Given the description of an element on the screen output the (x, y) to click on. 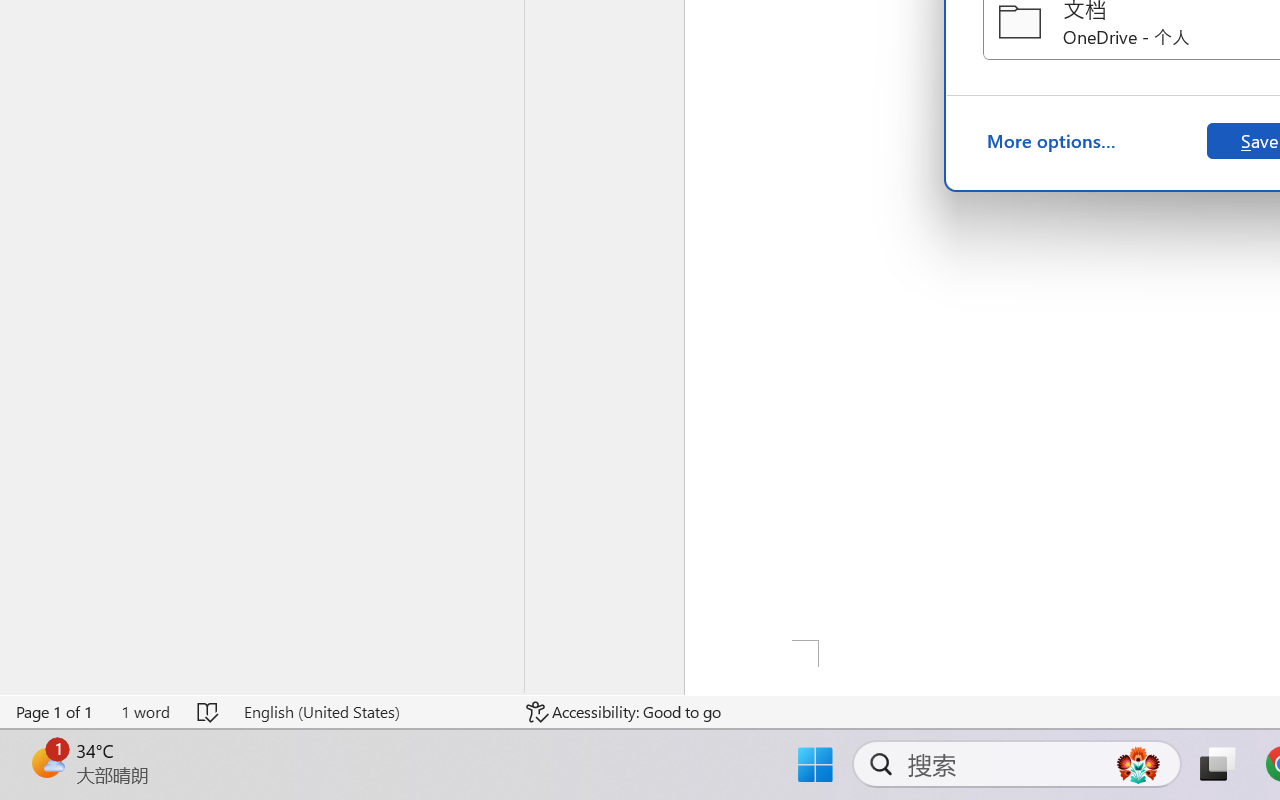
AutomationID: DynamicSearchBoxGleamImage (1138, 764)
Spelling and Grammar Check No Errors (208, 712)
Language English (United States) (370, 712)
AutomationID: BadgeAnchorLargeTicker (46, 762)
Word Count 1 word (145, 712)
Accessibility Checker Accessibility: Good to go (623, 712)
Page Number Page 1 of 1 (55, 712)
